Given the description of an element on the screen output the (x, y) to click on. 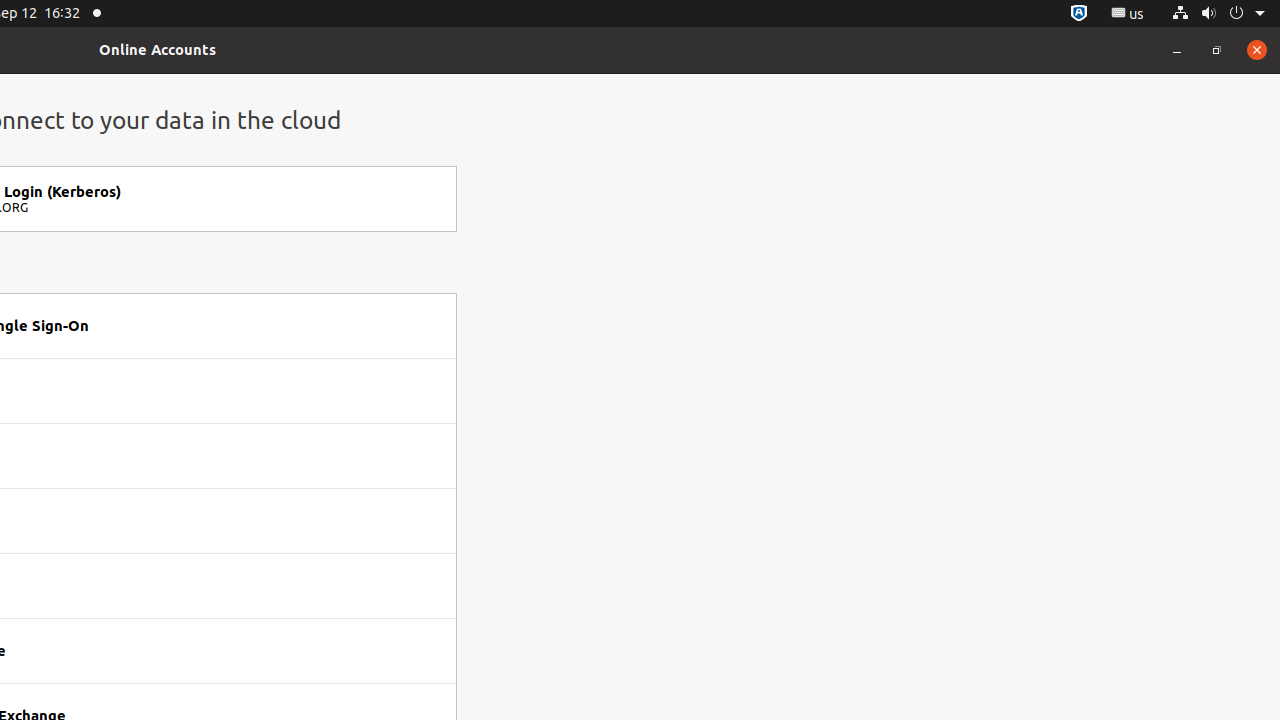
Restore Element type: push-button (1217, 50)
